Given the description of an element on the screen output the (x, y) to click on. 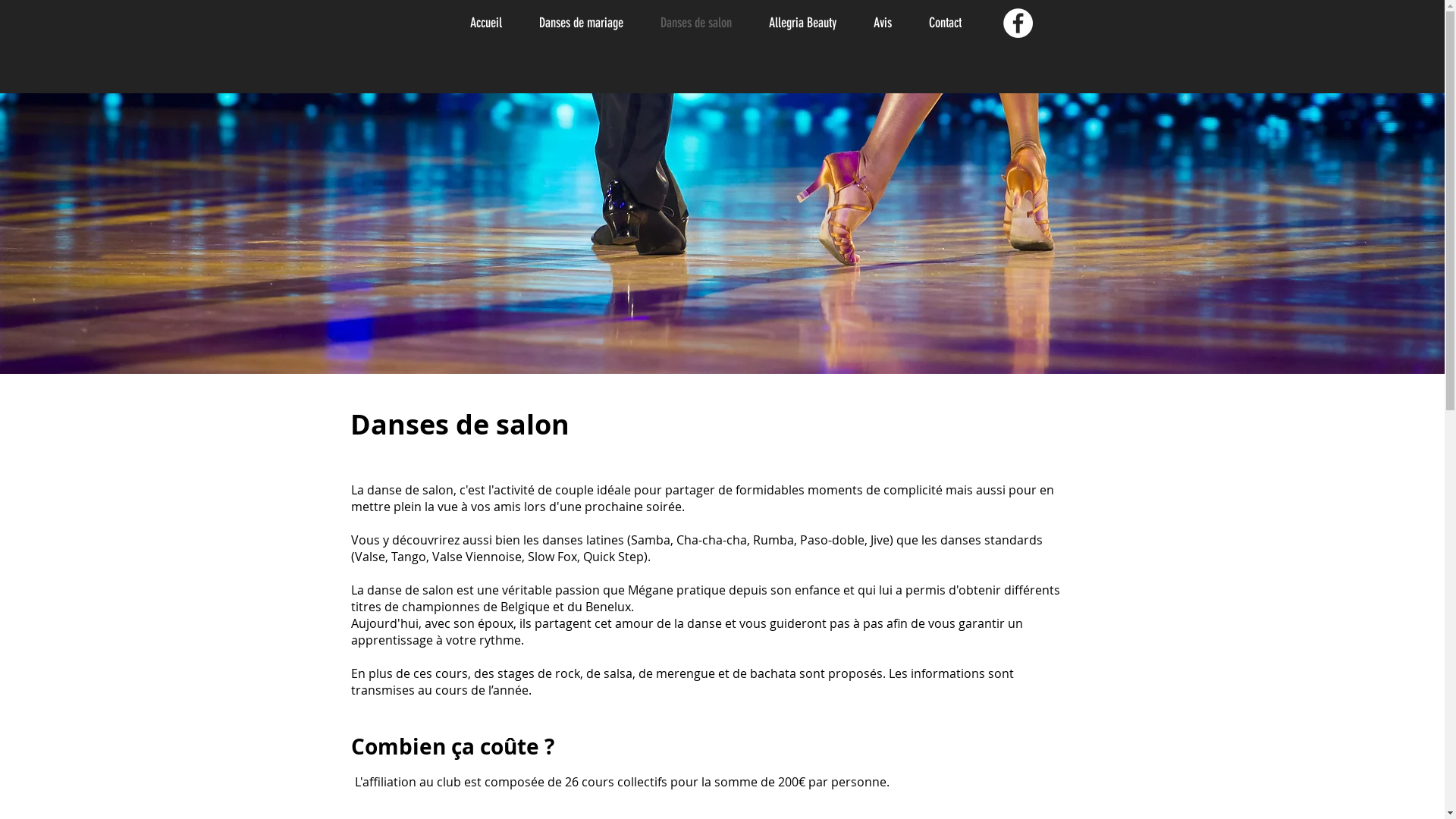
Danses de salon Element type: text (703, 22)
Allegria Beauty Element type: text (808, 22)
Avis Element type: text (888, 22)
Accueil Element type: text (492, 22)
Danses de mariage Element type: text (588, 22)
Contact Element type: text (951, 22)
